Given the description of an element on the screen output the (x, y) to click on. 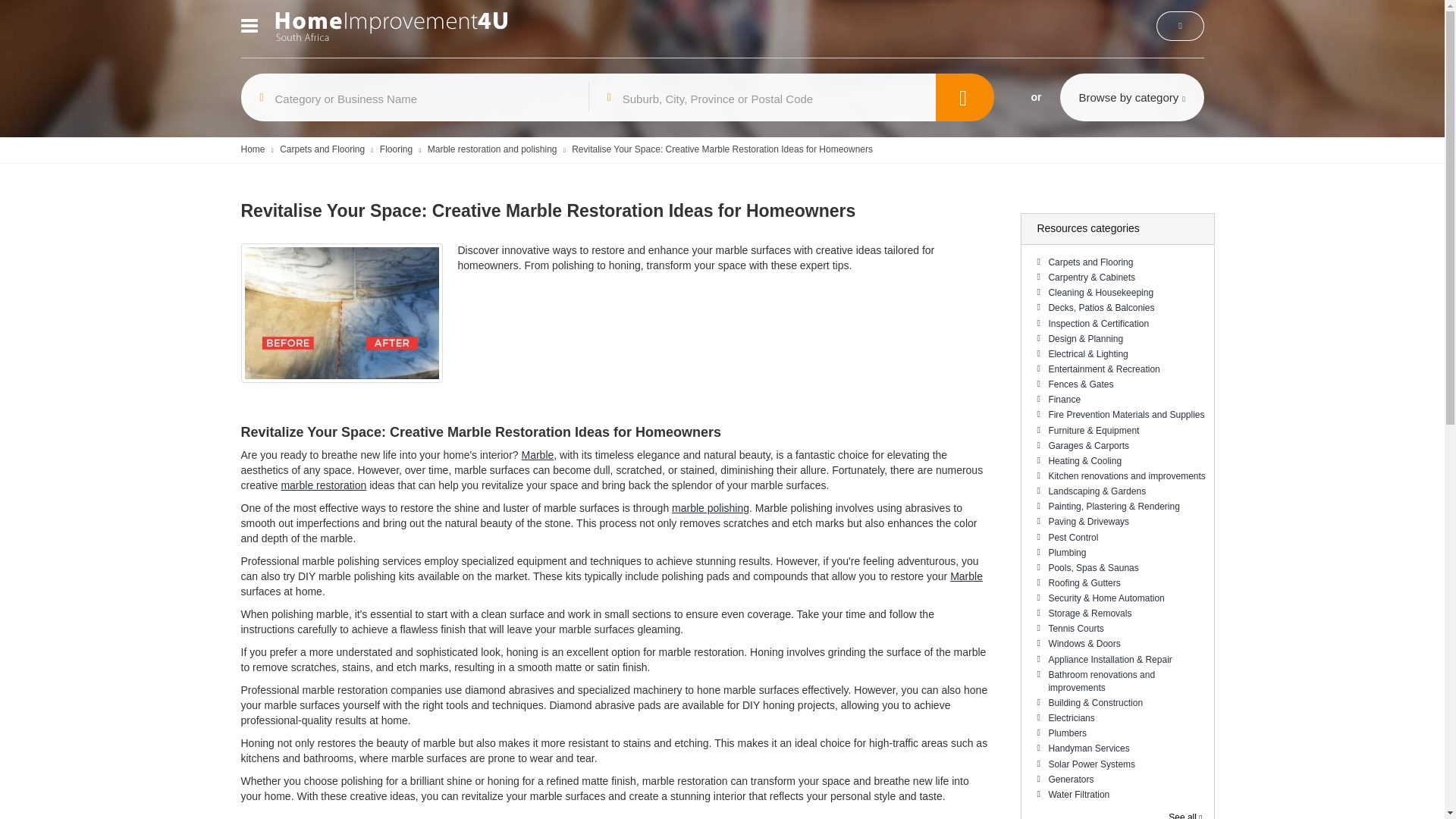
Carpets and Flooring (322, 149)
marble restoration (323, 485)
Marble (966, 576)
1 - Menu (251, 27)
marble polishing (710, 508)
Marble (537, 454)
Home (252, 149)
Marble restoration and polishing (492, 149)
Carpets and Flooring (322, 149)
Carpets and Flooring (1124, 263)
Flooring (396, 149)
Browse by category (1131, 97)
Flooring (396, 149)
